Given the description of an element on the screen output the (x, y) to click on. 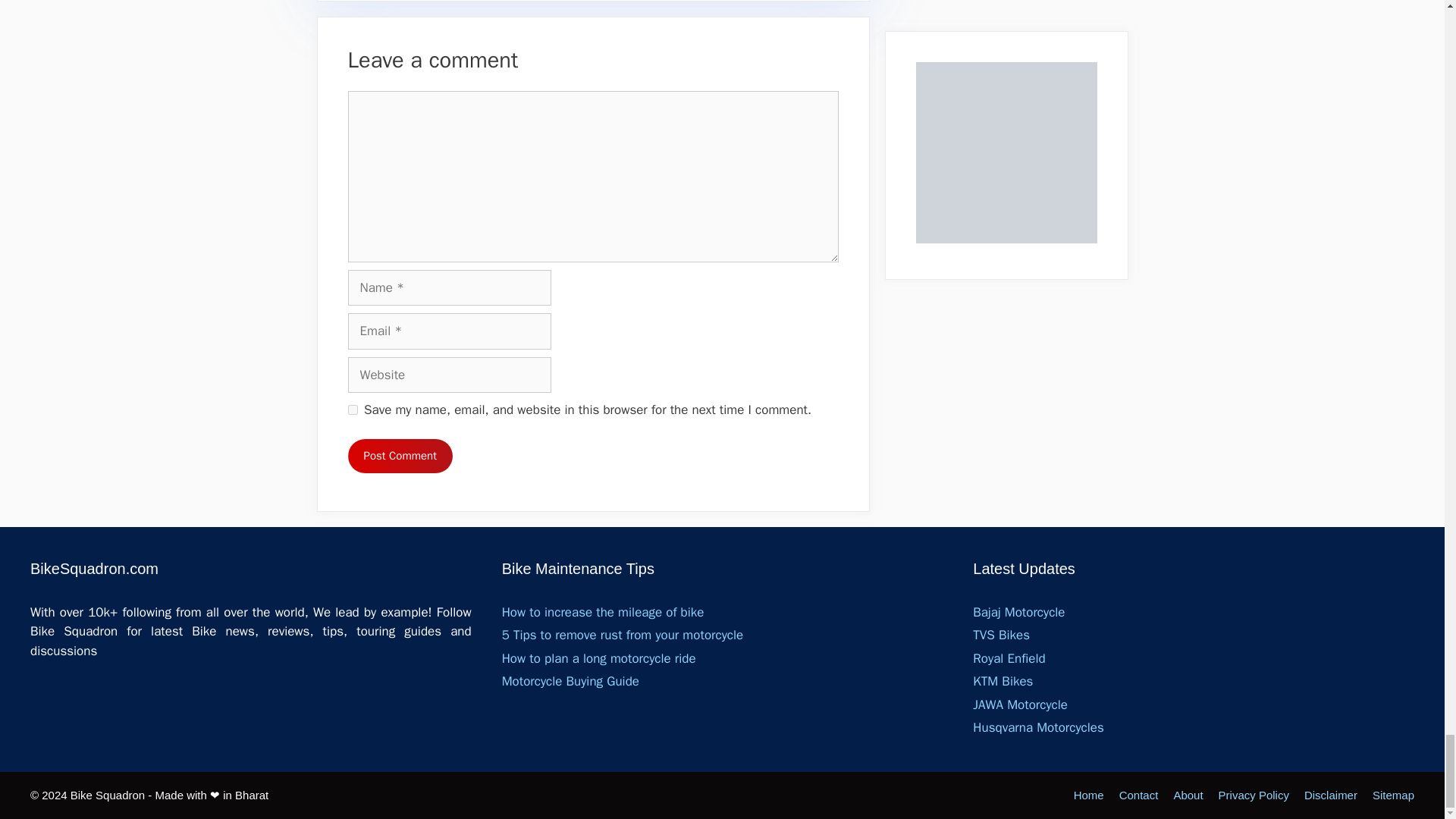
yes (351, 409)
How to increase the mileage of bike (603, 611)
Post Comment (399, 455)
Post Comment (399, 455)
